Given the description of an element on the screen output the (x, y) to click on. 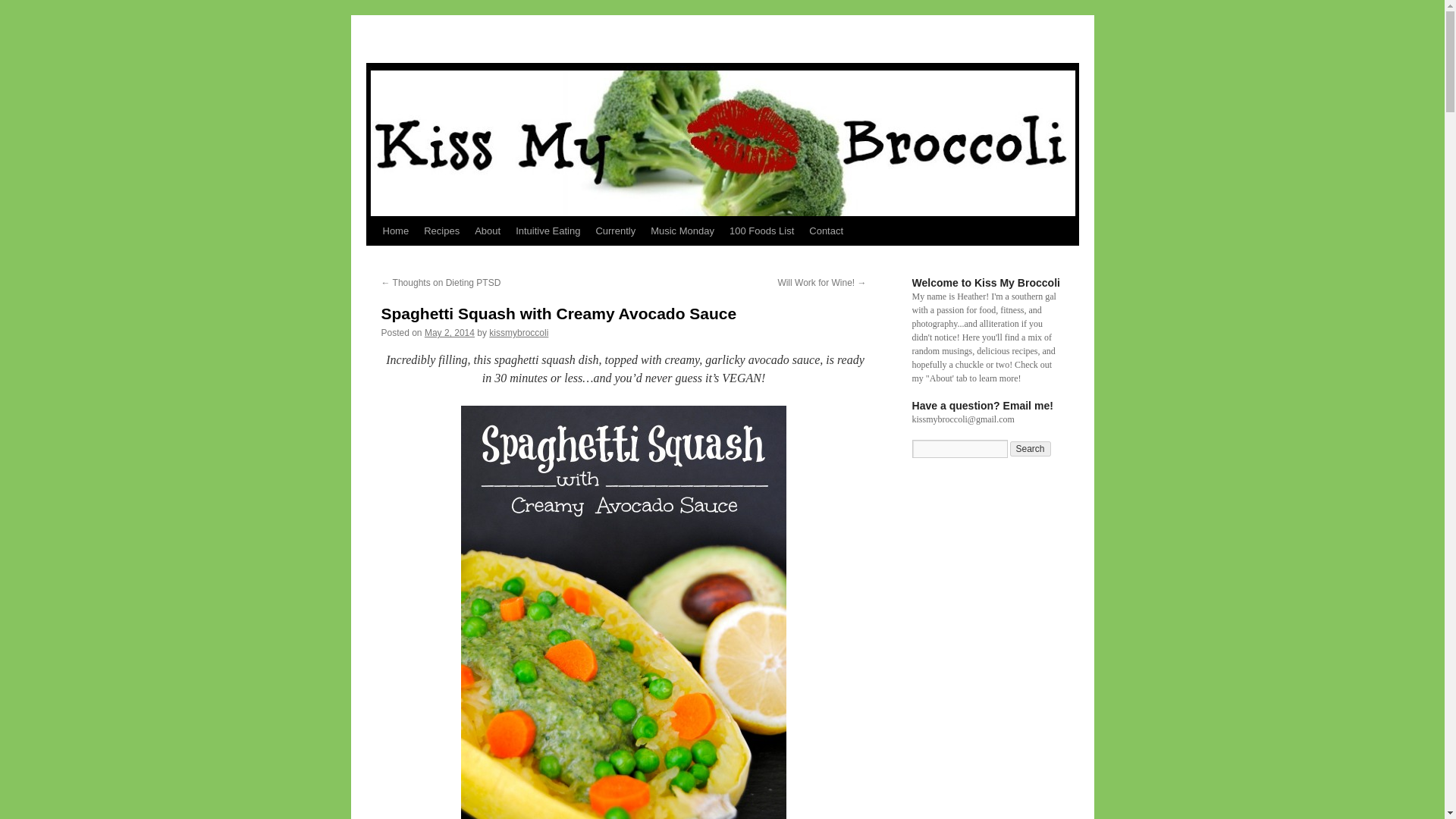
2:00 AM (449, 332)
Recipes (441, 231)
Currently (615, 231)
About (487, 231)
Music Monday (682, 231)
kissmybroccoli (518, 332)
Search (1030, 448)
View all posts by kissmybroccoli (518, 332)
Intuitive Eating (548, 231)
100 Foods List (762, 231)
